Given the description of an element on the screen output the (x, y) to click on. 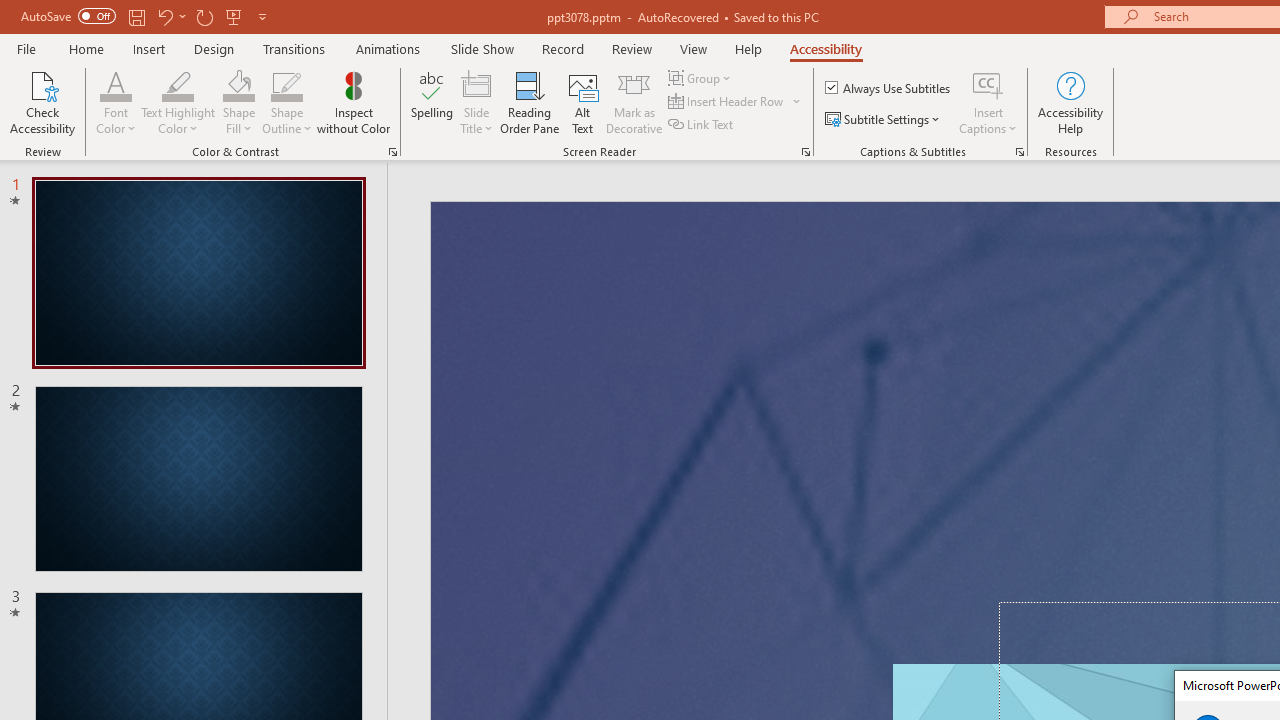
Insert Header Row (727, 101)
Mark as Decorative (634, 102)
